Given the description of an element on the screen output the (x, y) to click on. 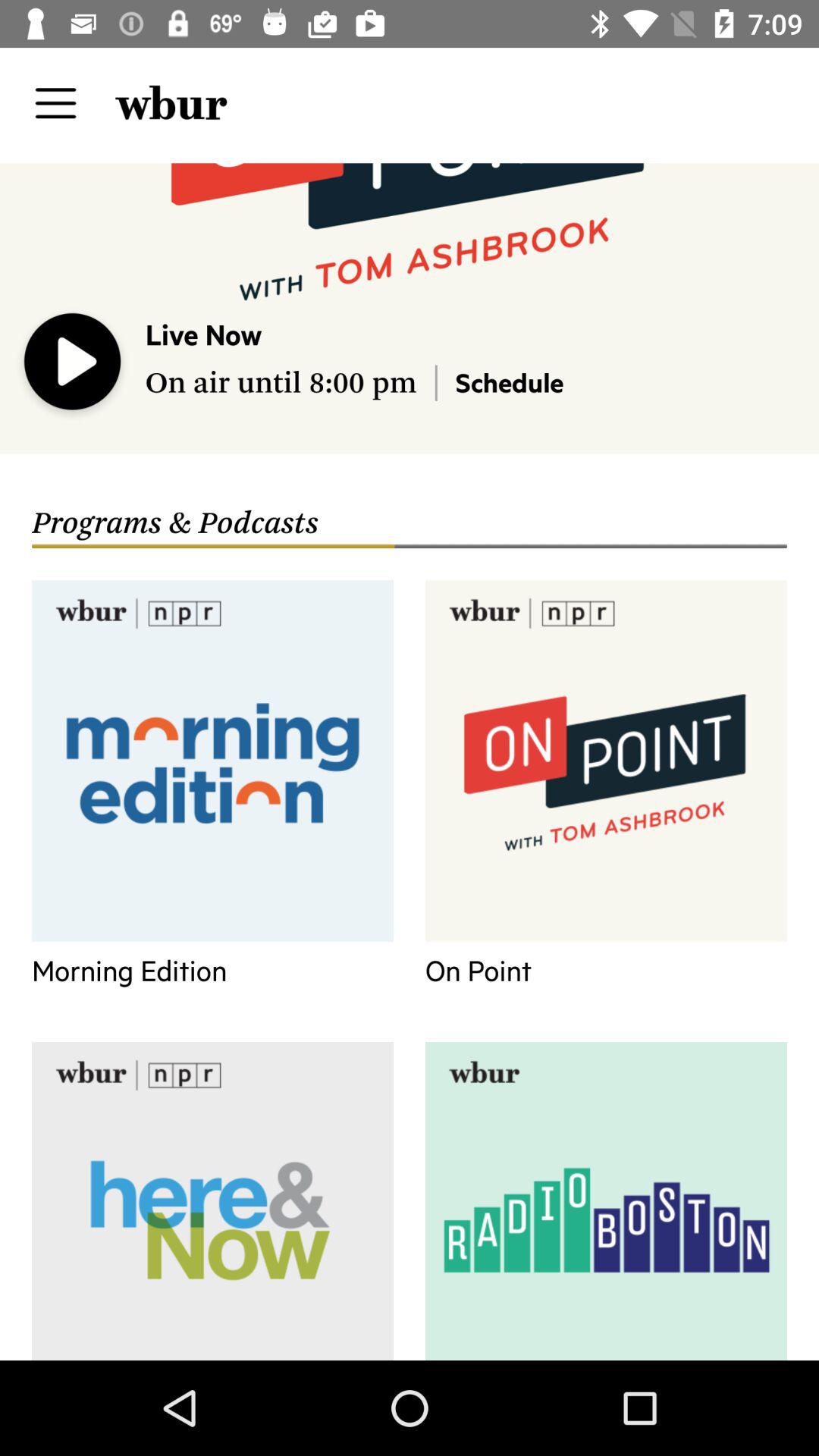
tap icon above programs & podcasts (509, 381)
